Given the description of an element on the screen output the (x, y) to click on. 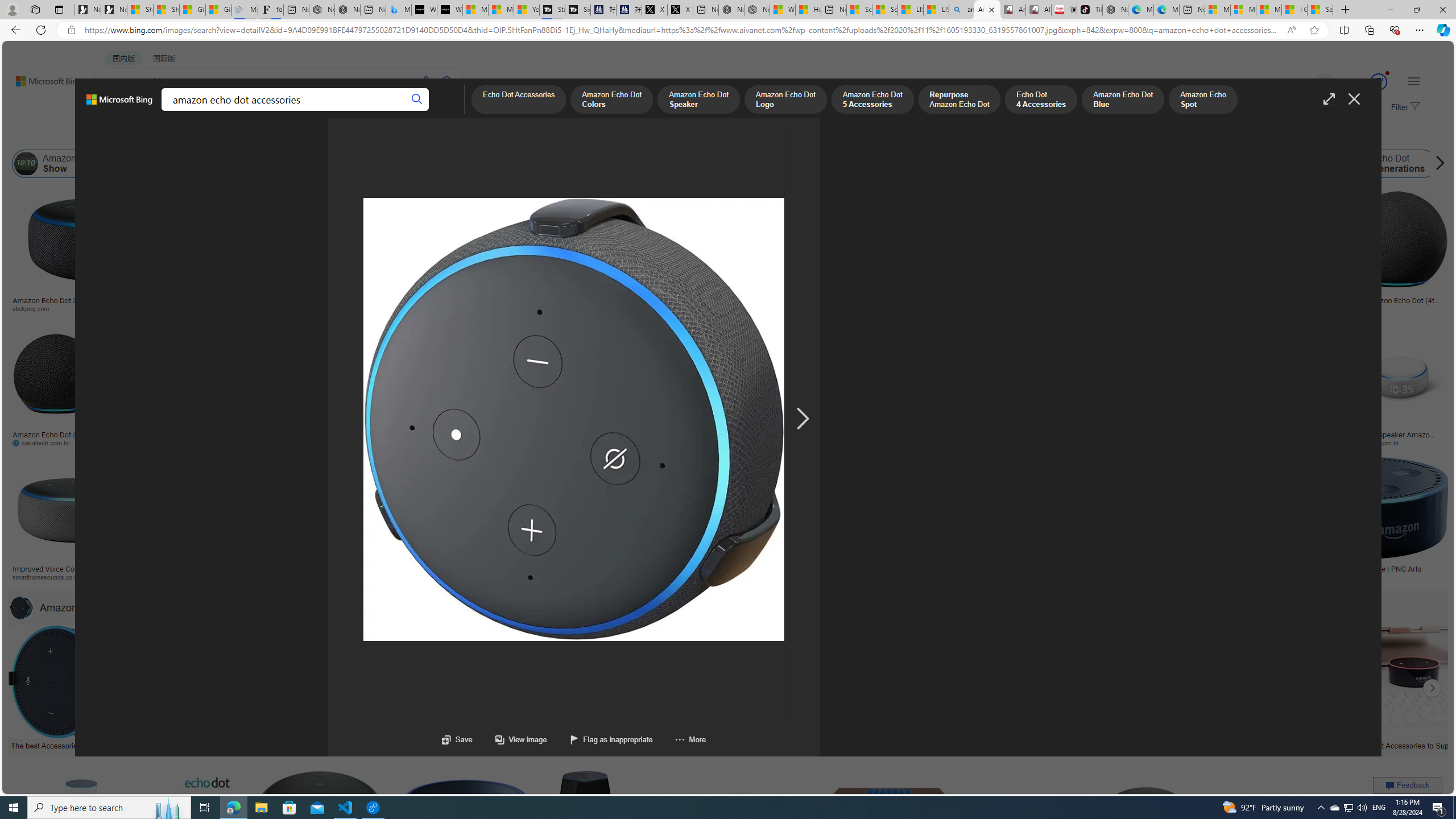
canaltech.com.br (56, 442)
WEB (114, 111)
smarthomesounds.co.uk (50, 576)
tpsearchtool.com (1283, 308)
Echo Dot Accessories (828, 744)
Amazon Echo Dot Logo (905, 163)
